Given the description of an element on the screen output the (x, y) to click on. 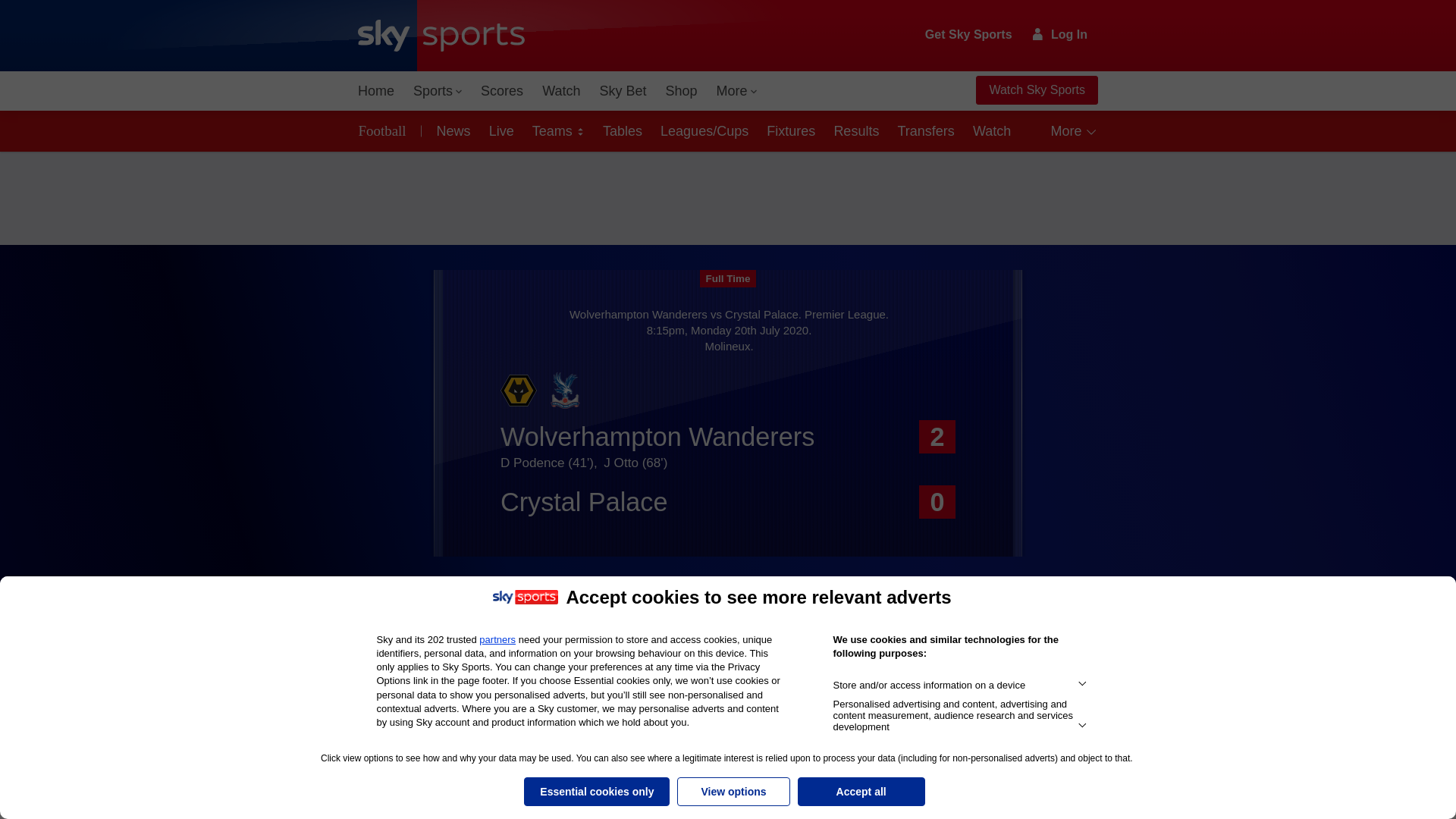
Shop (681, 91)
Sports (437, 91)
News (451, 130)
Get Sky Sports (968, 34)
Sky Bet (622, 91)
Watch (561, 91)
Log In (1060, 33)
Football (385, 130)
Scores (502, 91)
Watch Sky Sports (1036, 90)
